Given the description of an element on the screen output the (x, y) to click on. 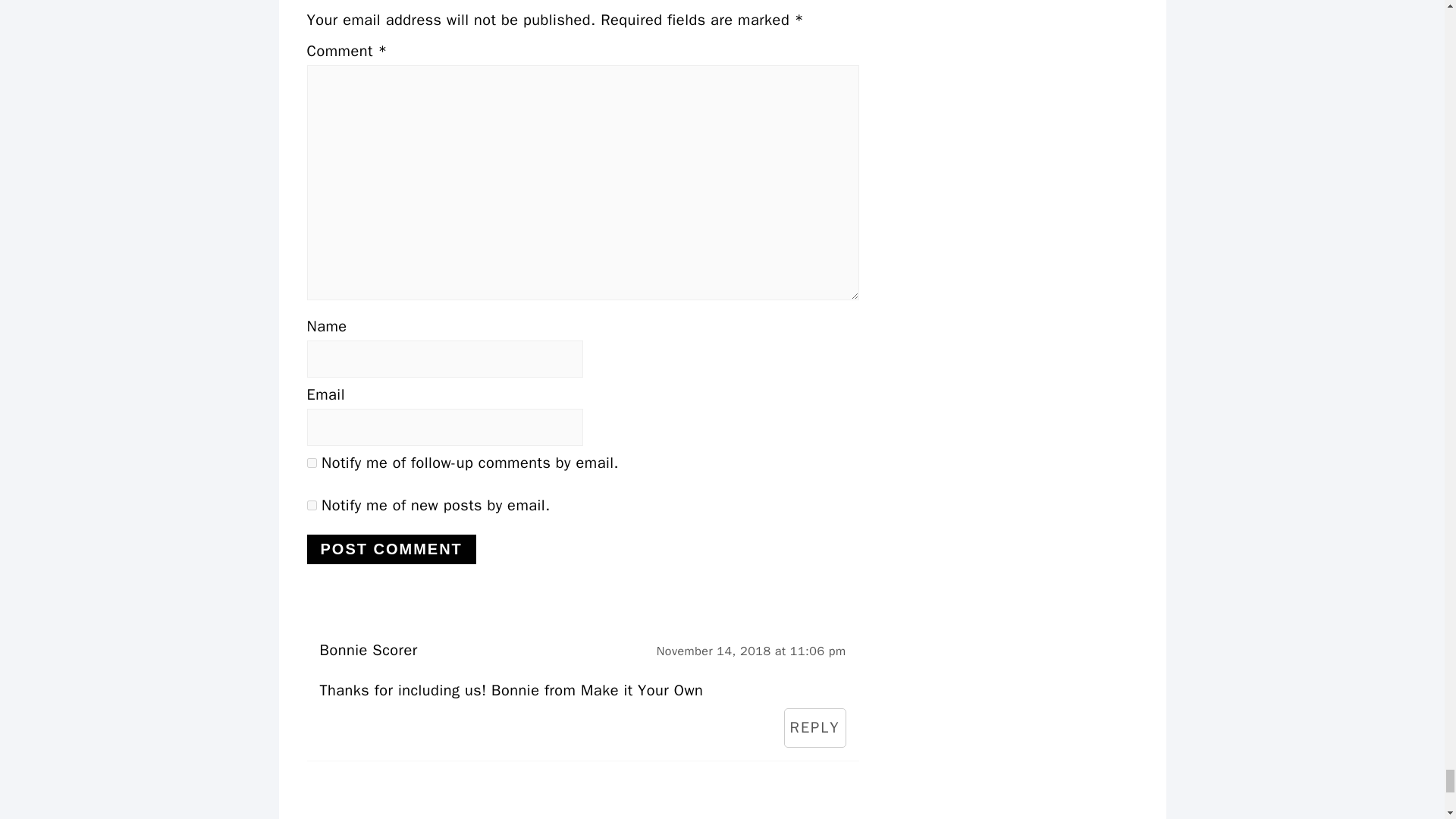
subscribe (310, 462)
subscribe (310, 505)
Post Comment (390, 549)
